Given the description of an element on the screen output the (x, y) to click on. 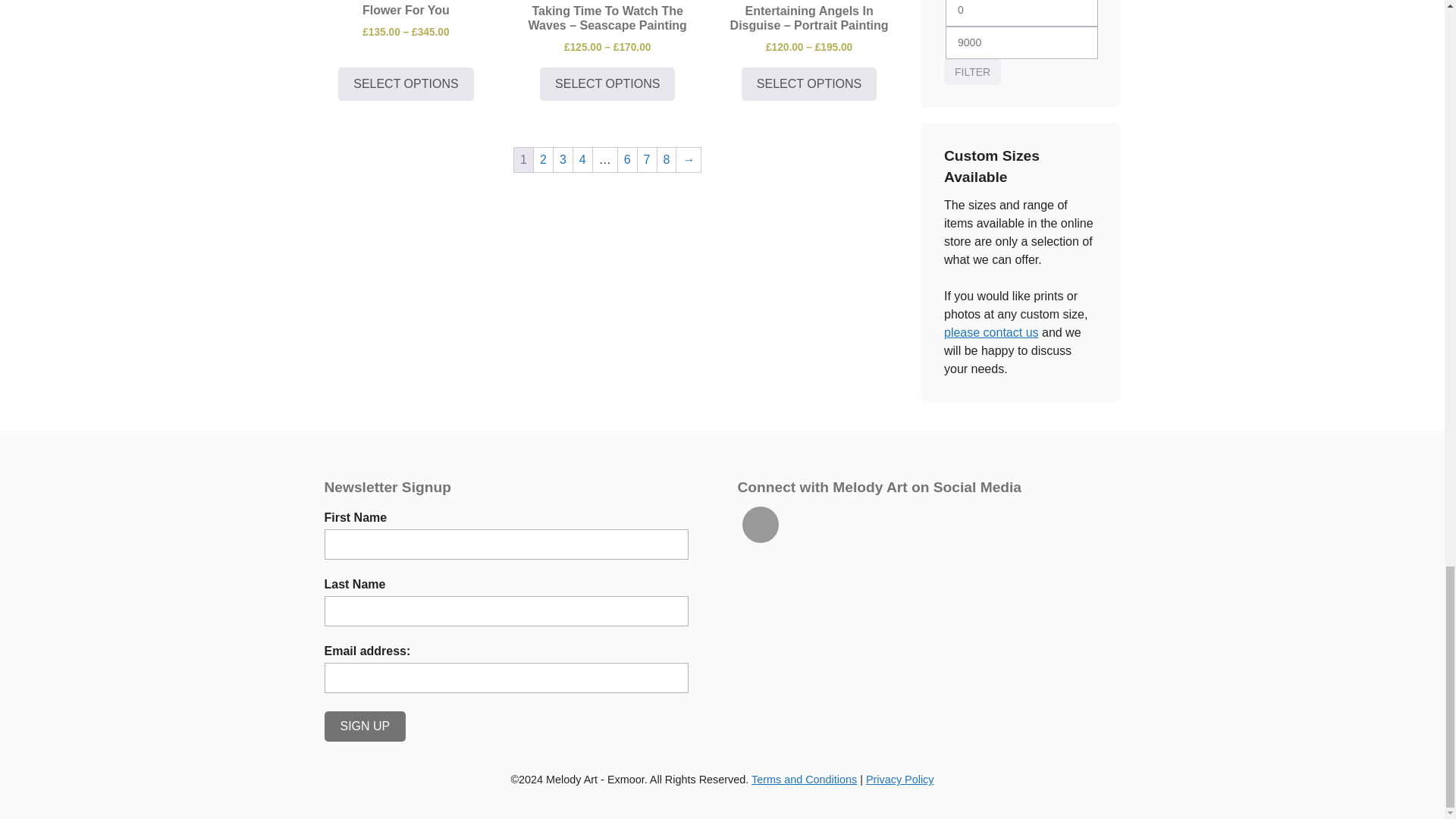
0 (1020, 13)
Sign up (365, 726)
9000 (1020, 42)
